Given the description of an element on the screen output the (x, y) to click on. 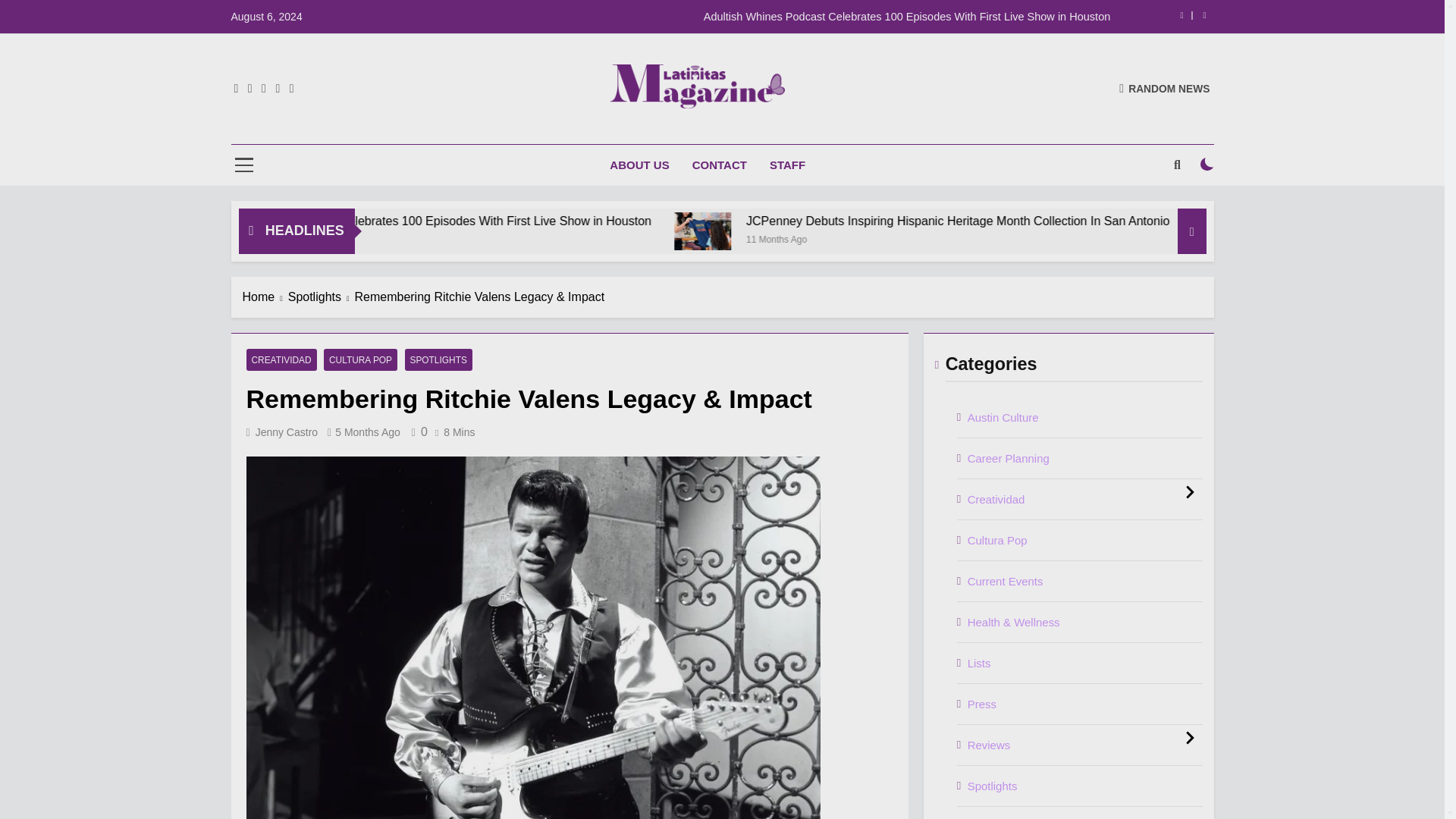
Latinitas Magazine (571, 130)
RANDOM NEWS (1164, 88)
on (1206, 164)
